Given the description of an element on the screen output the (x, y) to click on. 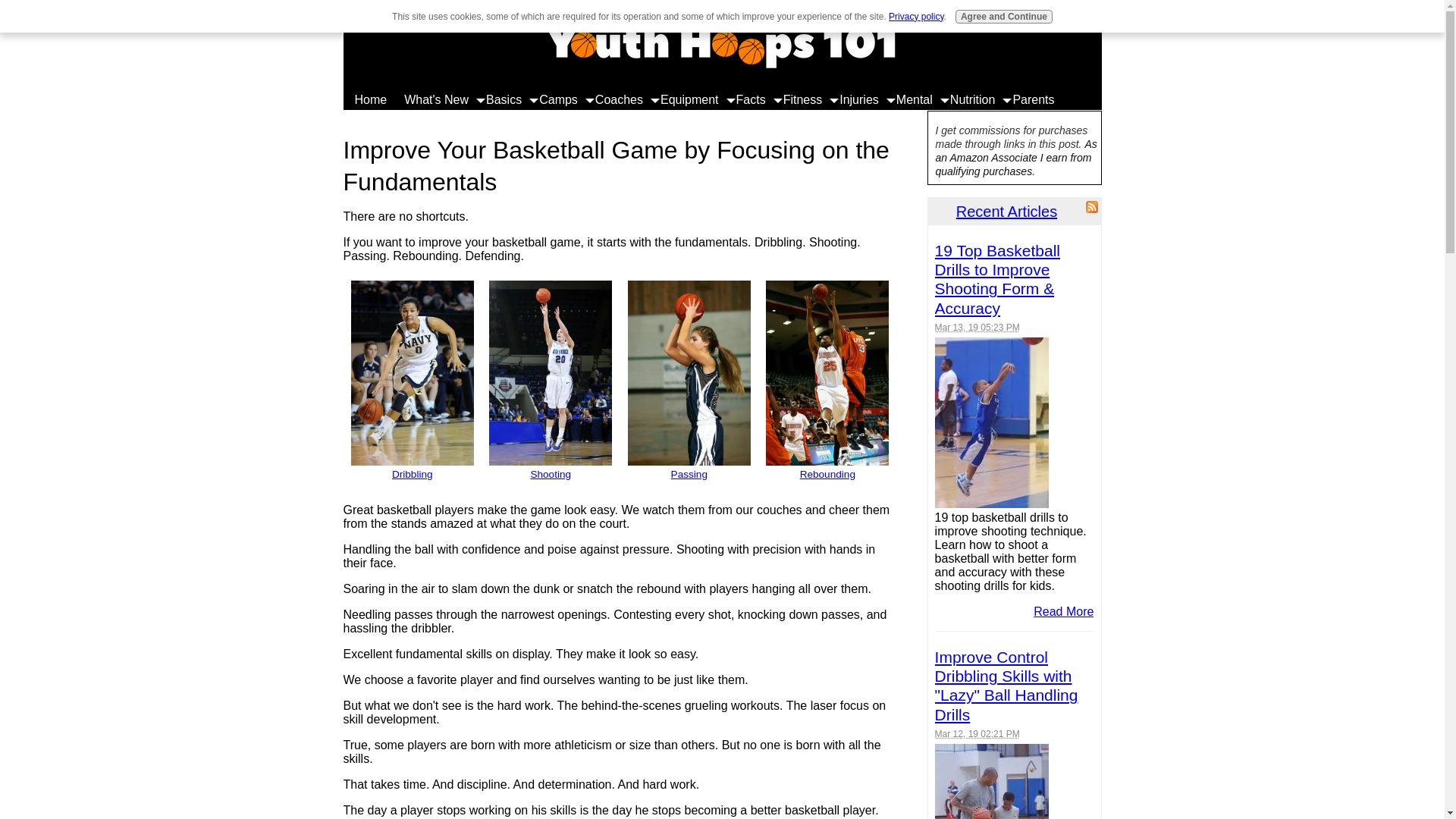
What's New (433, 99)
Passing (689, 467)
2019-03-12T14:21:29-0400 (977, 733)
Rebounding (827, 467)
Shooting (550, 467)
Home (367, 99)
Dribbling (411, 467)
2019-03-13T17:23:45-0400 (977, 327)
